Given the description of an element on the screen output the (x, y) to click on. 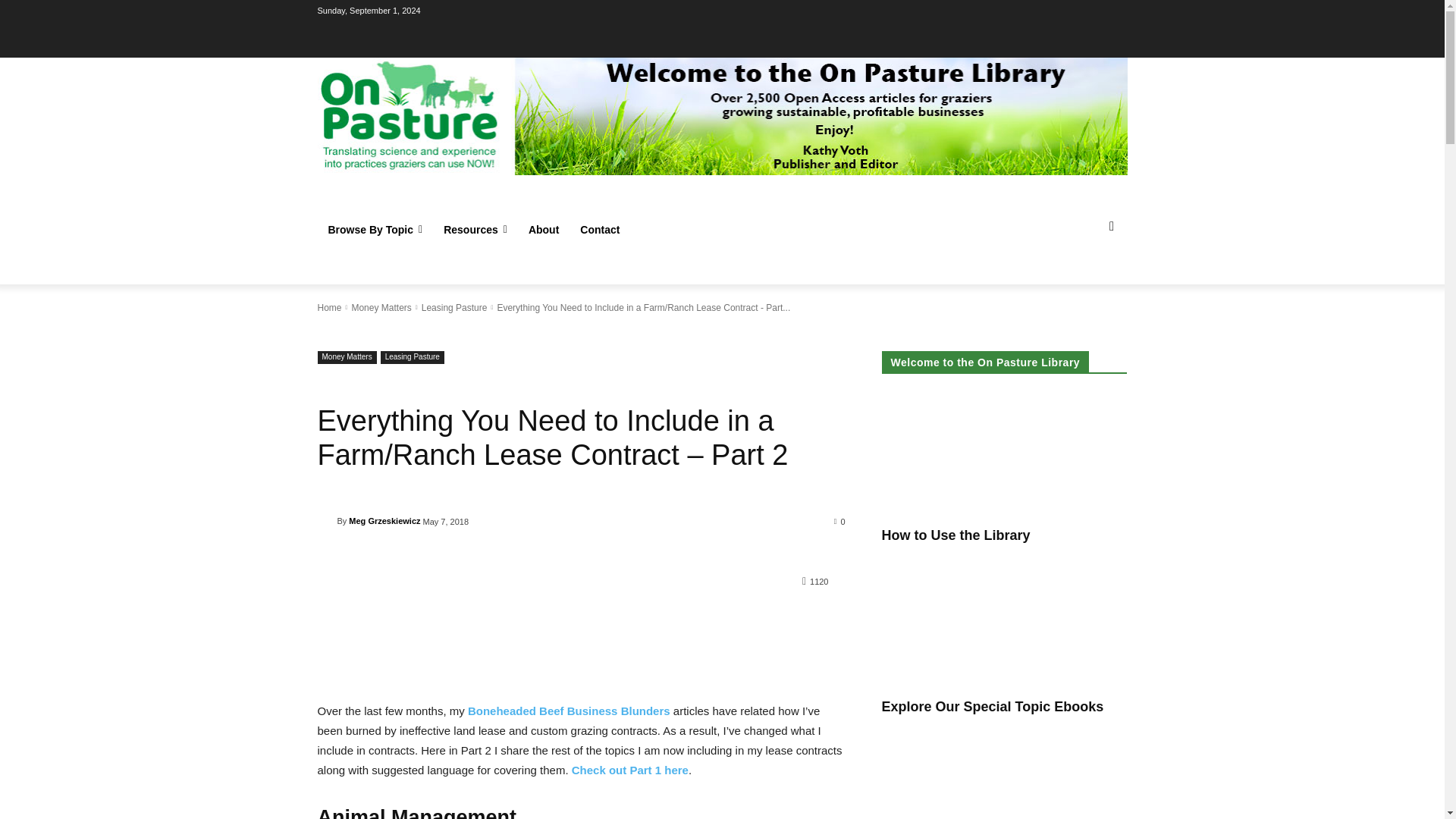
View all posts in Money Matters (380, 307)
View all posts in Leasing Pasture (454, 307)
Meg Grzeskiewicz (326, 520)
